Given the description of an element on the screen output the (x, y) to click on. 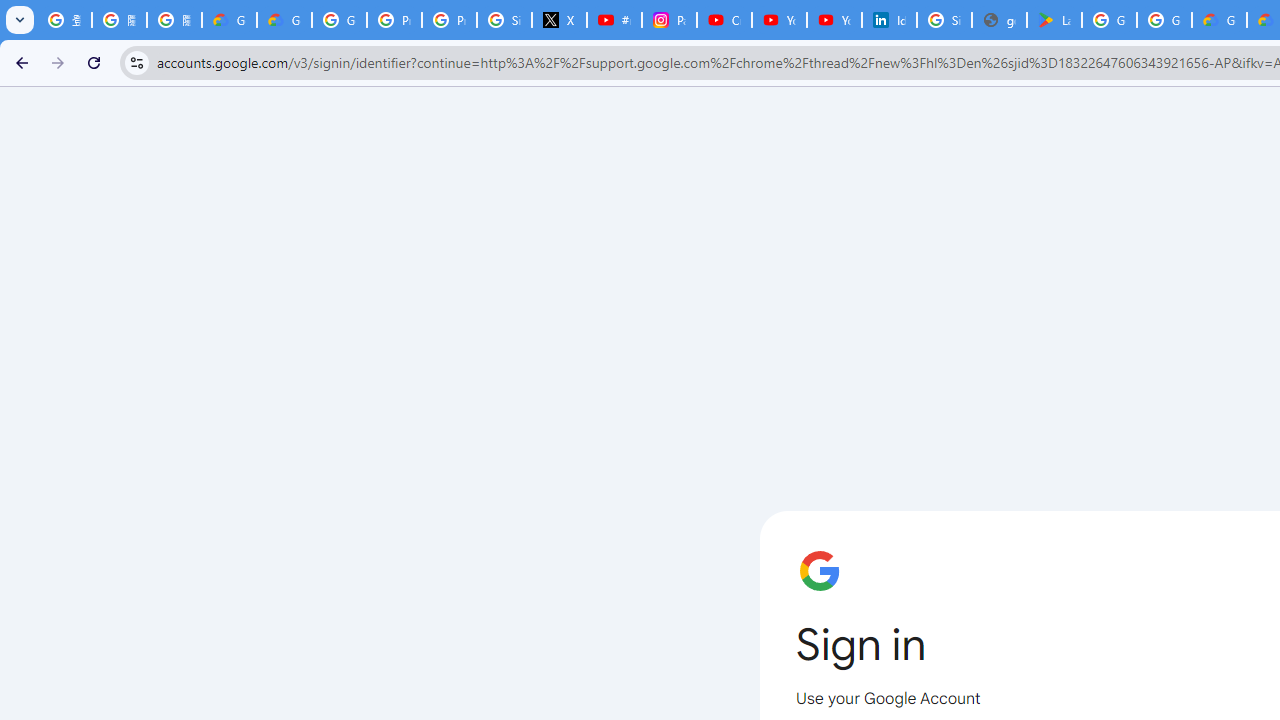
X (559, 20)
Google Cloud Privacy Notice (229, 20)
Privacy Help Center - Policies Help (449, 20)
Google Workspace - Specific Terms (1163, 20)
#nbabasketballhighlights - YouTube (614, 20)
